Given the description of an element on the screen output the (x, y) to click on. 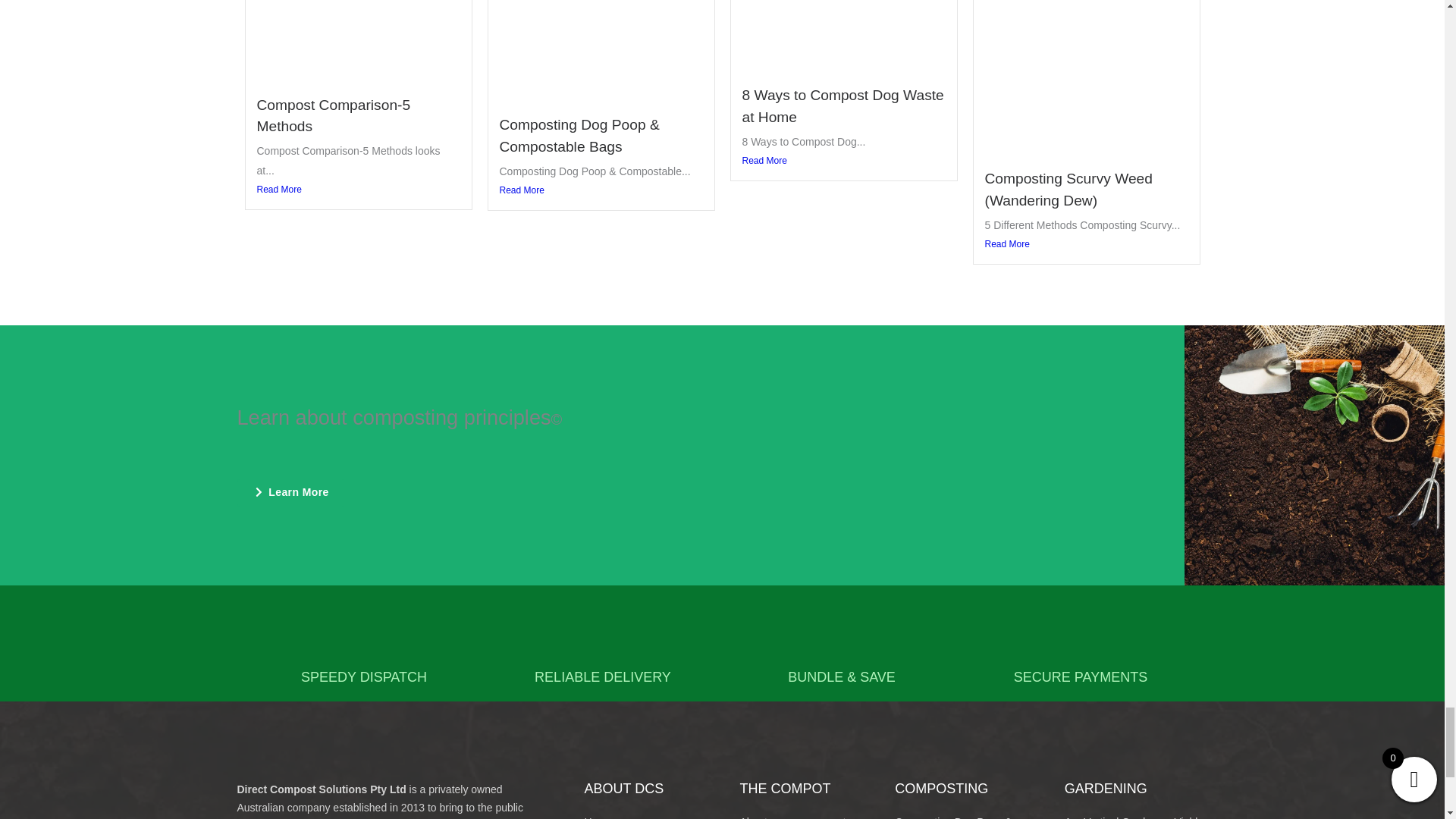
Compost Comparison-5 Methods (333, 116)
8 Ways to Compost Dog Waste at Home (842, 105)
